Given the description of an element on the screen output the (x, y) to click on. 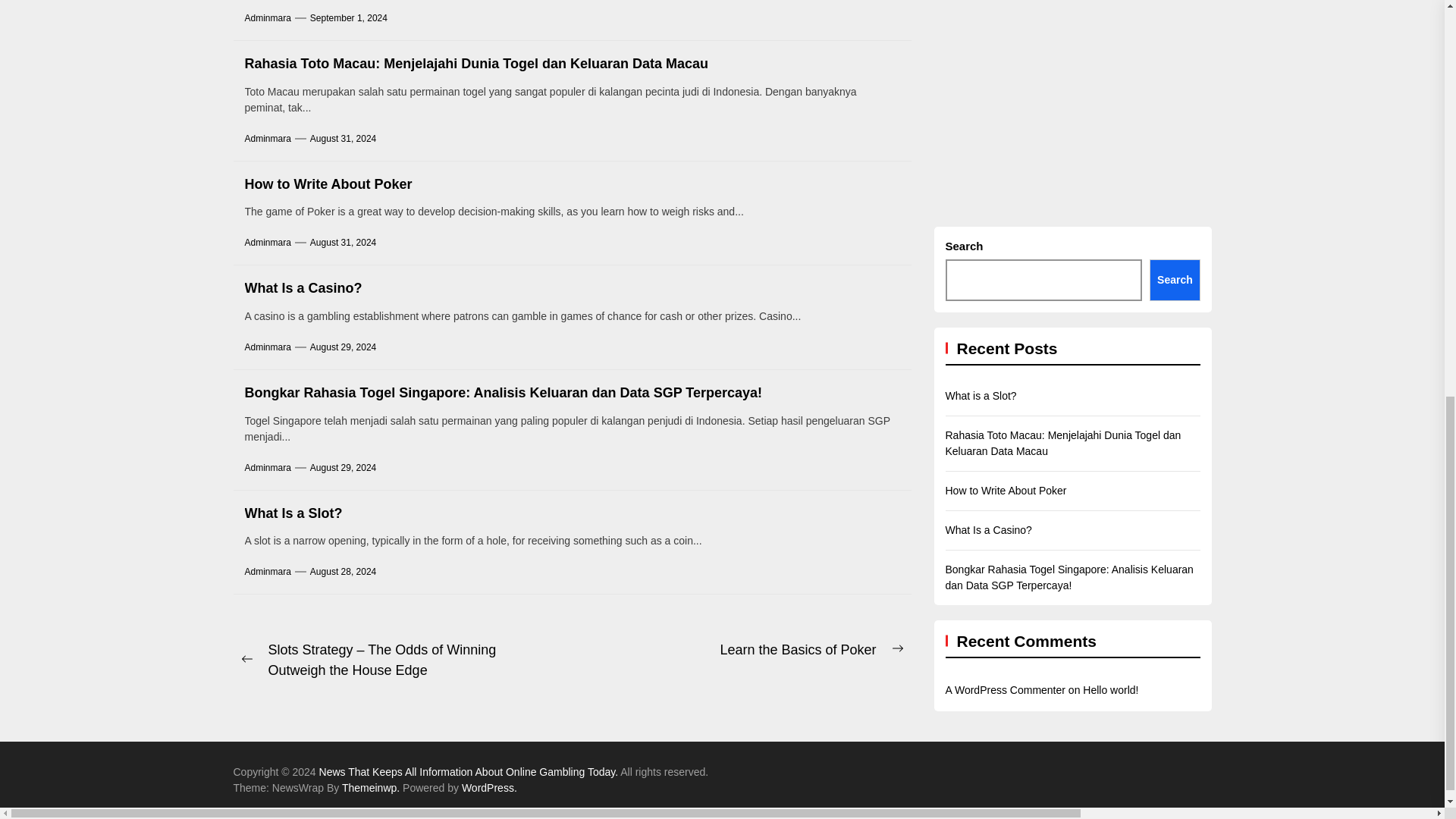
WordPress (488, 787)
News That Keeps All Information About Online Gambling Today (469, 771)
Themeinwp (372, 787)
